Given the description of an element on the screen output the (x, y) to click on. 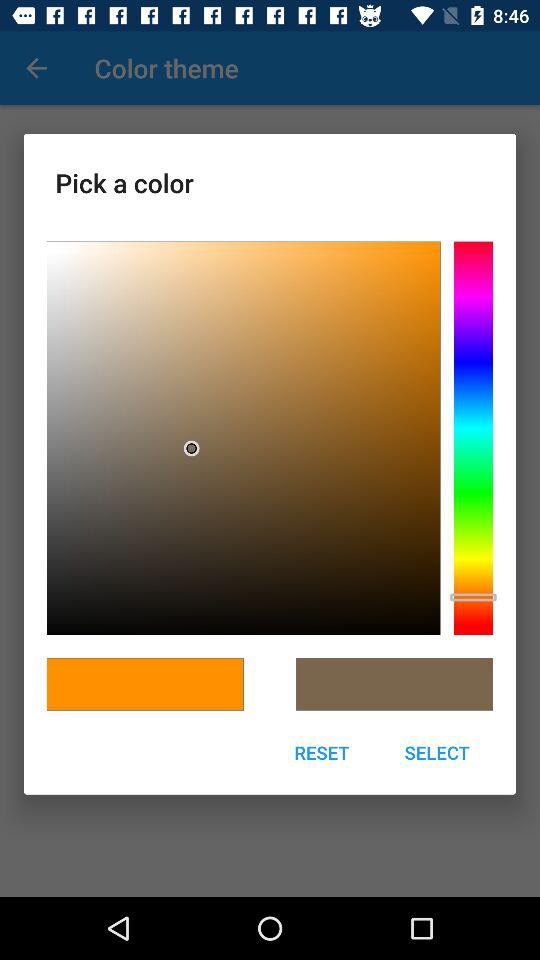
turn on select (437, 752)
